Given the description of an element on the screen output the (x, y) to click on. 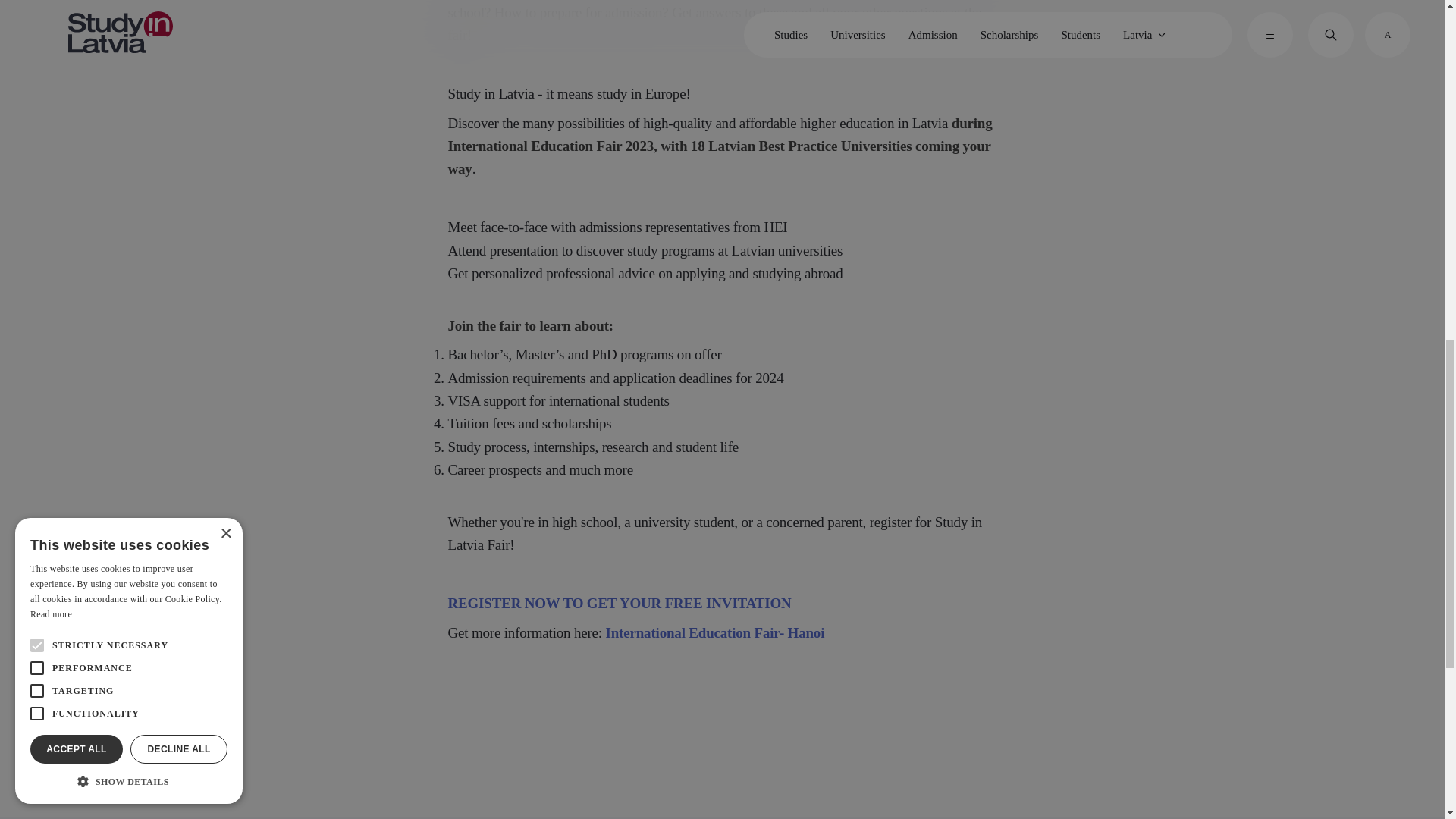
International Education Fair- Hanoi (715, 632)
REGISTER NOW TO GET YOUR FREE INVITATION (618, 602)
